Given the description of an element on the screen output the (x, y) to click on. 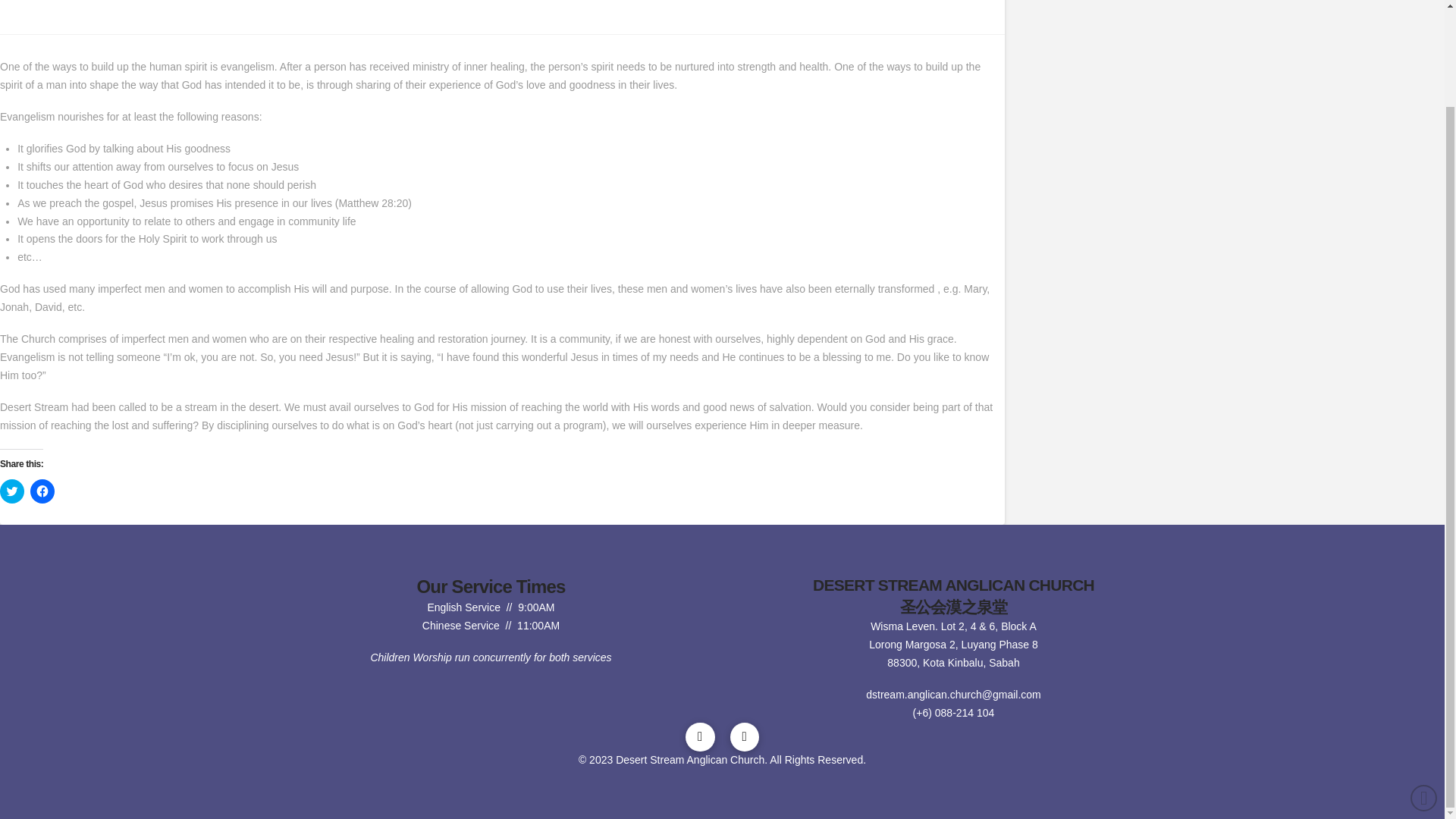
Click to share on Twitter (12, 491)
Back to Top (1423, 686)
Click to share on Facebook (42, 491)
